Given the description of an element on the screen output the (x, y) to click on. 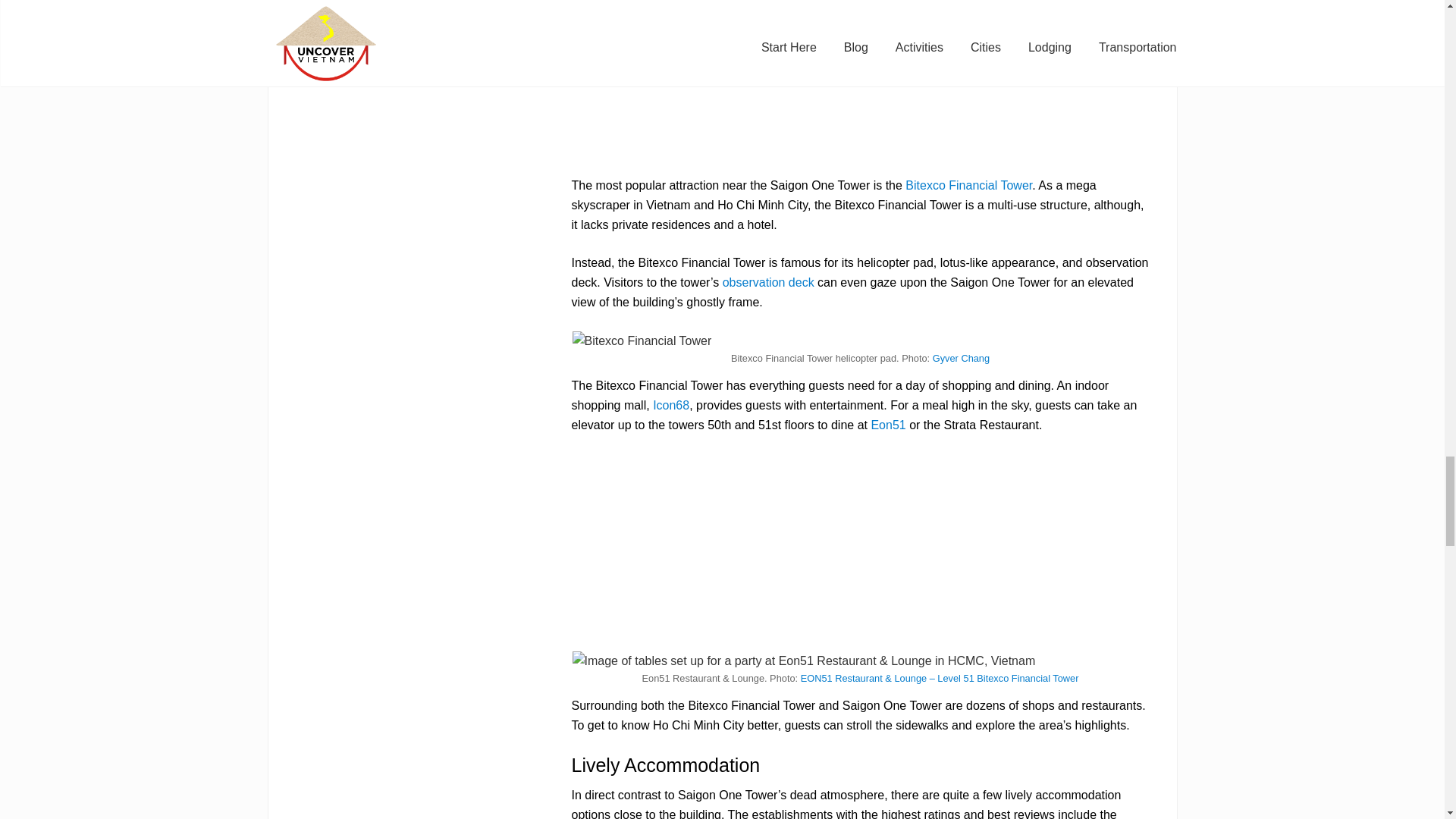
Eon51 (887, 424)
Icon68 (670, 404)
observation deck (767, 282)
Gyver Chang (961, 357)
Bitexco Financial Tower (968, 185)
